Given the description of an element on the screen output the (x, y) to click on. 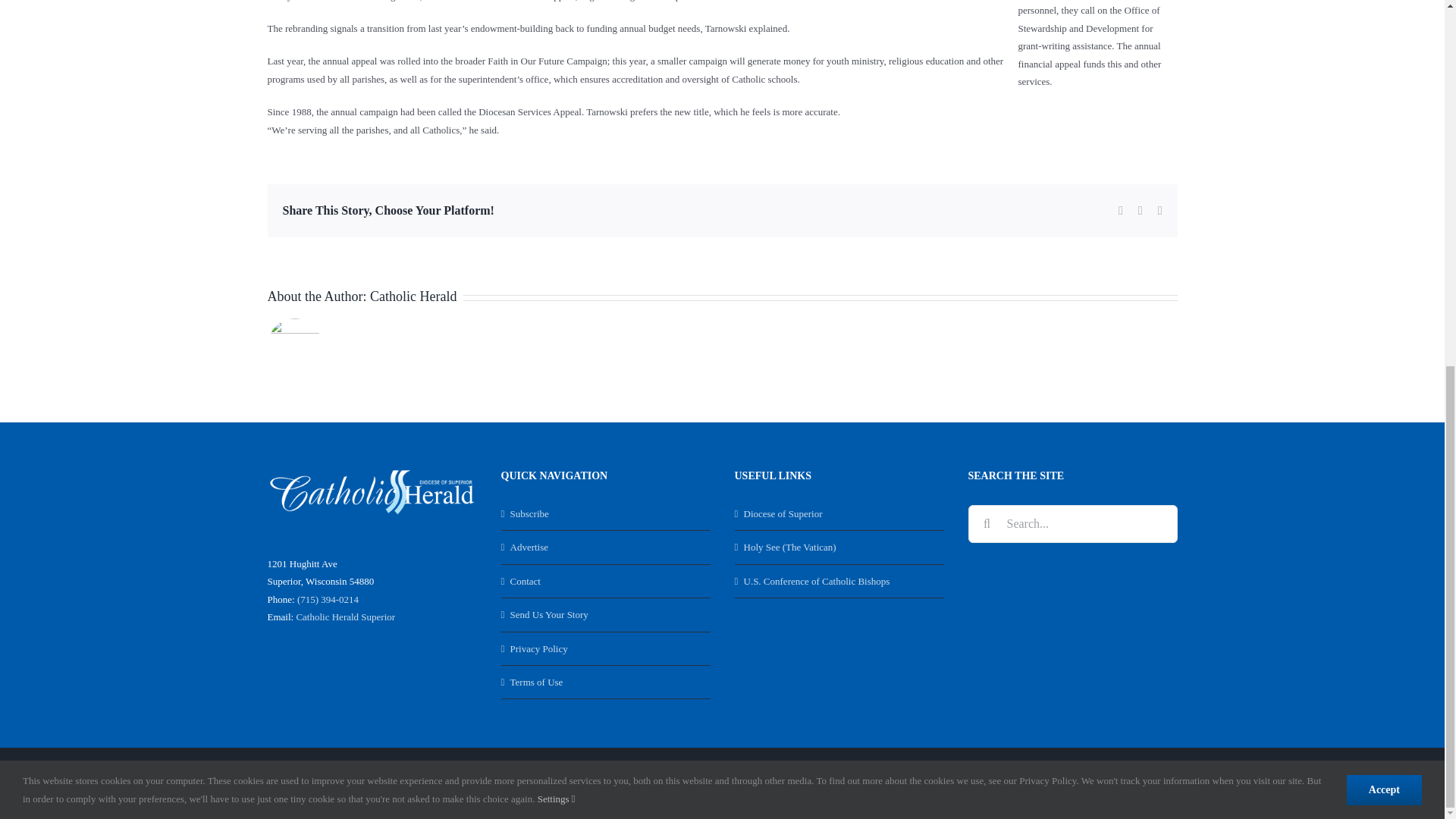
Instagram (1163, 783)
X (1096, 783)
Posts by Catholic Herald (413, 296)
Facebook (1064, 783)
YouTube (1130, 783)
